Given the description of an element on the screen output the (x, y) to click on. 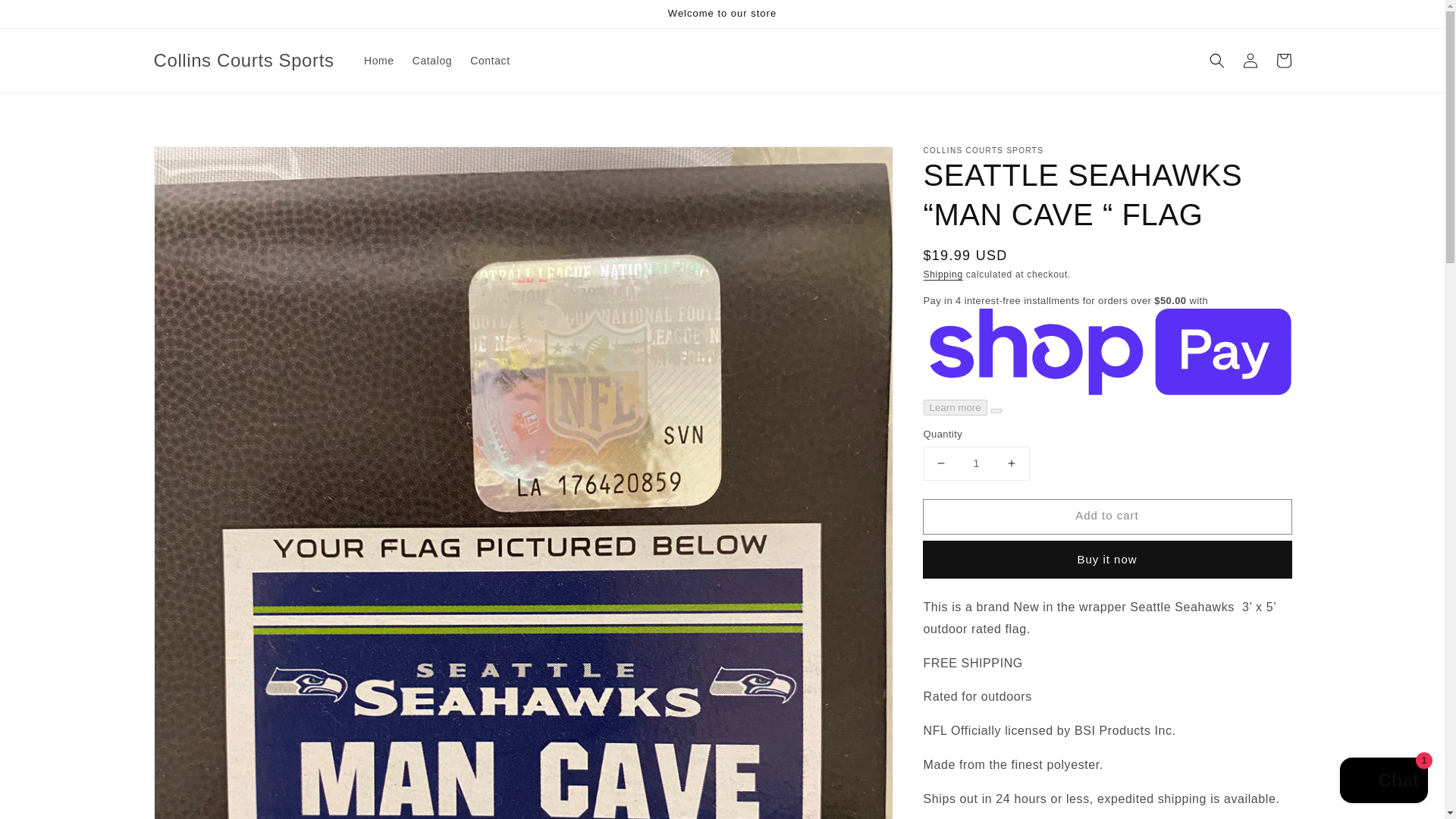
Skip to content (45, 16)
Shipping (942, 274)
Log in (1249, 60)
1 (976, 463)
Cart (1283, 60)
Contact (489, 60)
Skip to product information (198, 162)
Add to cart (1107, 516)
Buy it now (1107, 559)
Shopify online store chat (1383, 781)
Catalog (432, 60)
Home (379, 60)
Collins Courts Sports (243, 60)
